Given the description of an element on the screen output the (x, y) to click on. 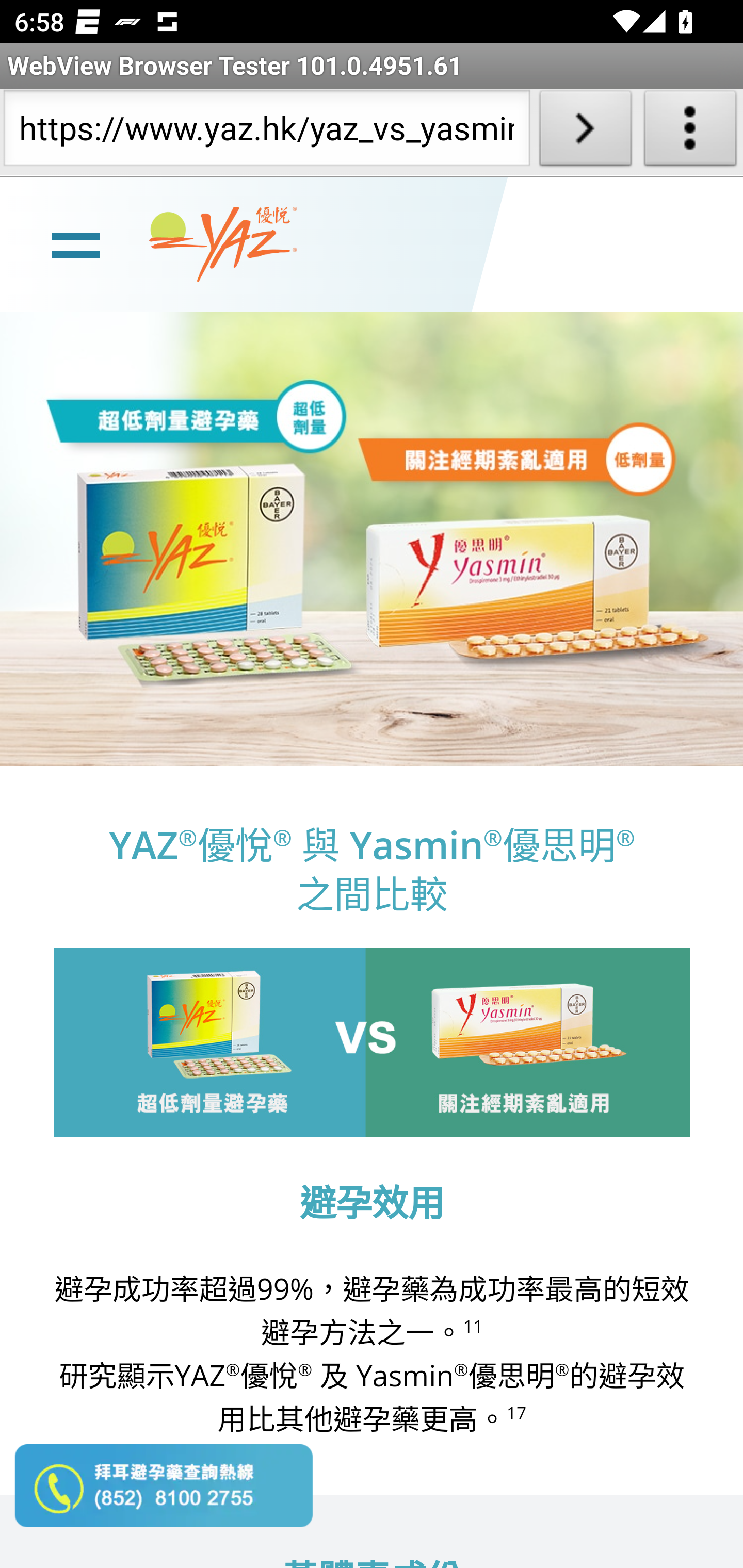
Load URL (585, 132)
About WebView (690, 132)
www.yaz (222, 244)
line Toggle burger menu (75, 242)
